Given the description of an element on the screen output the (x, y) to click on. 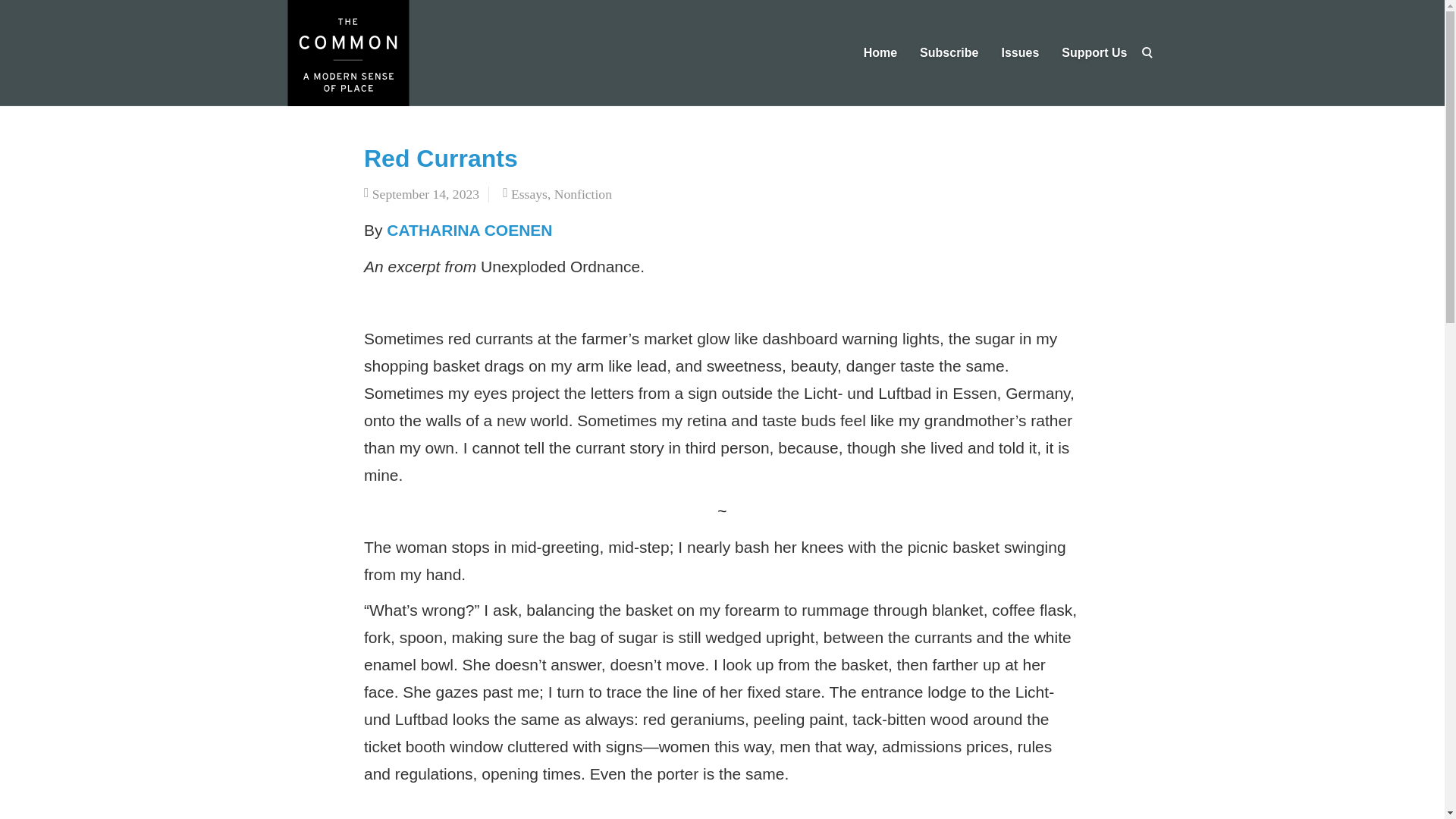
Permalink to Red Currants (441, 157)
Nonfiction (582, 193)
Red Currants (441, 157)
CATHARINA COENEN  (471, 230)
Essays (529, 193)
